Given the description of an element on the screen output the (x, y) to click on. 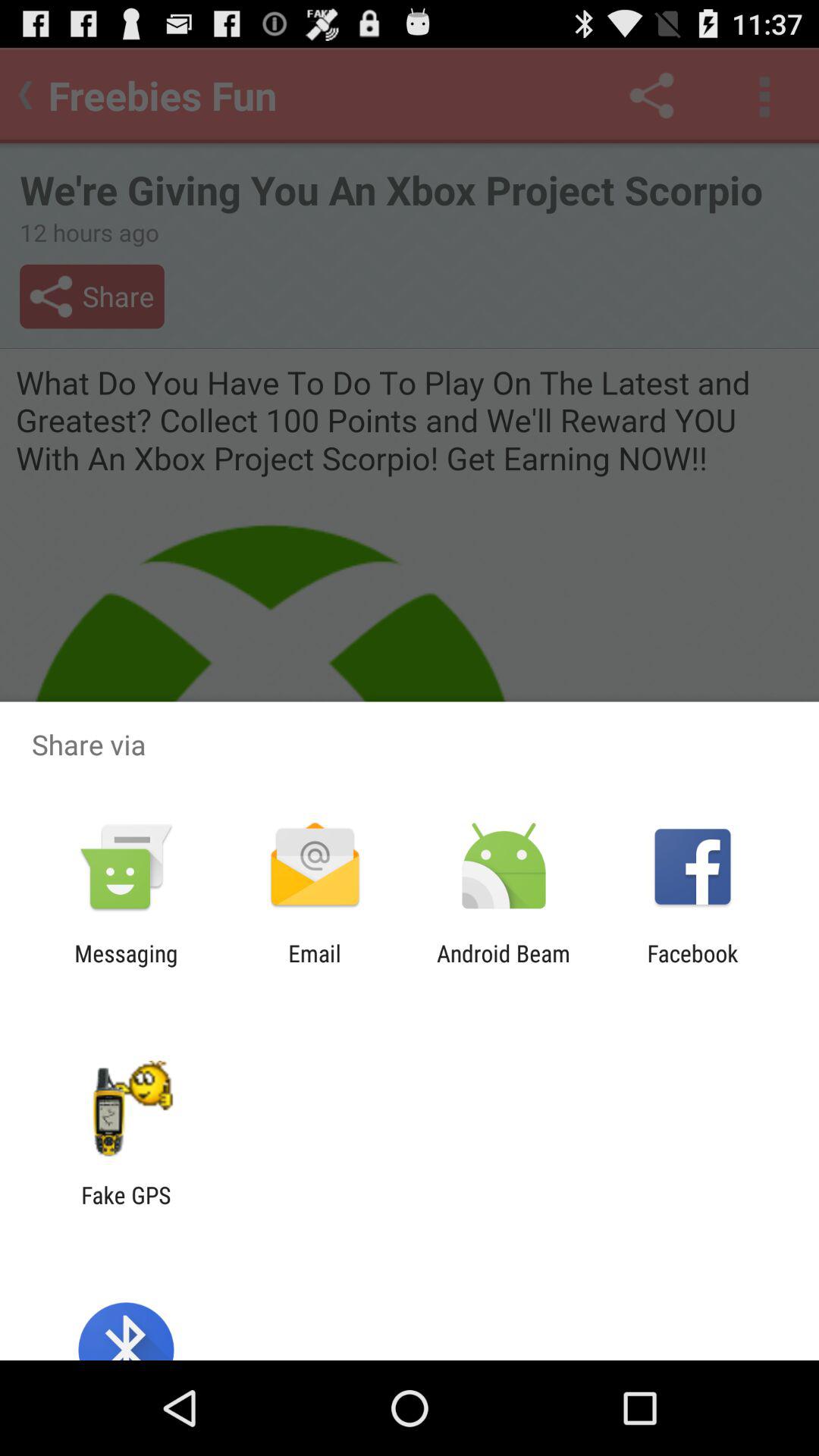
choose android beam (503, 966)
